Given the description of an element on the screen output the (x, y) to click on. 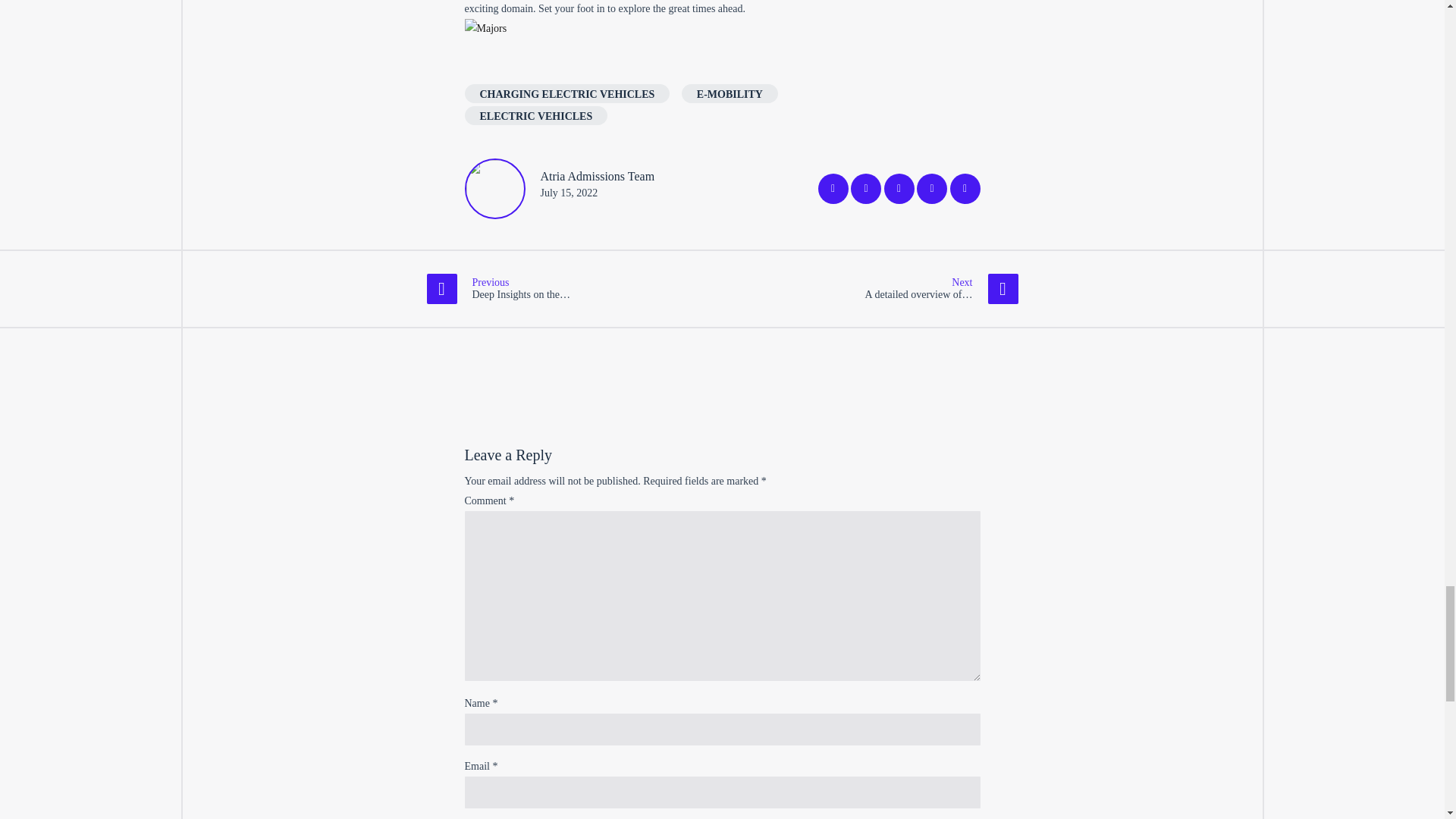
E-mobility (729, 93)
Charging electric vehicles (566, 93)
Electric Vehicles (535, 115)
